Given the description of an element on the screen output the (x, y) to click on. 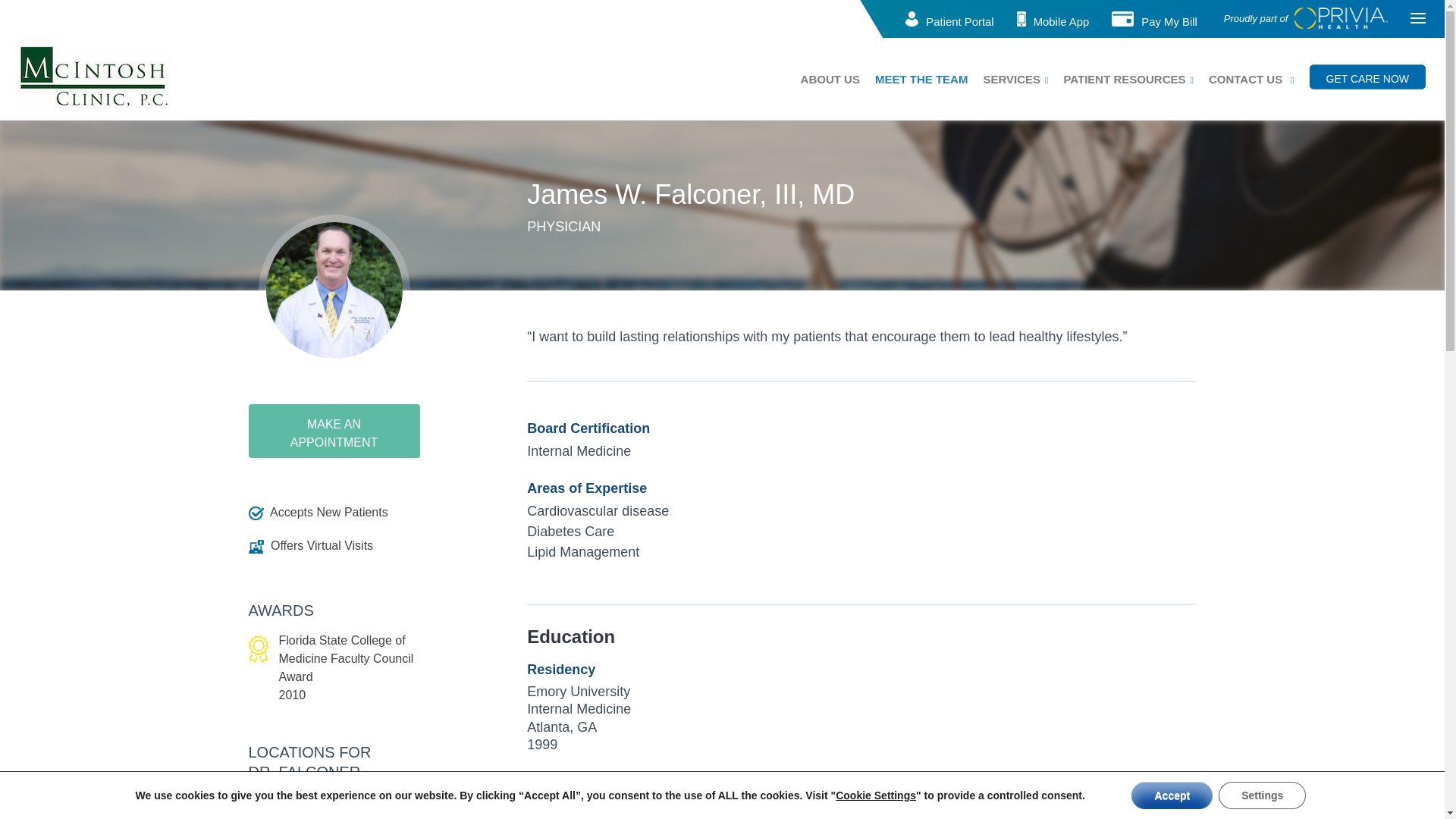
GET CARE NOW (1366, 77)
Pay My Bill (1168, 21)
SERVICES (1011, 78)
Mobile App (1061, 21)
Patient Portal (959, 21)
MEET THE TEAM (921, 78)
PATIENT RESOURCES (1123, 78)
ABOUT US (830, 78)
CONTACT US (1245, 78)
